Given the description of an element on the screen output the (x, y) to click on. 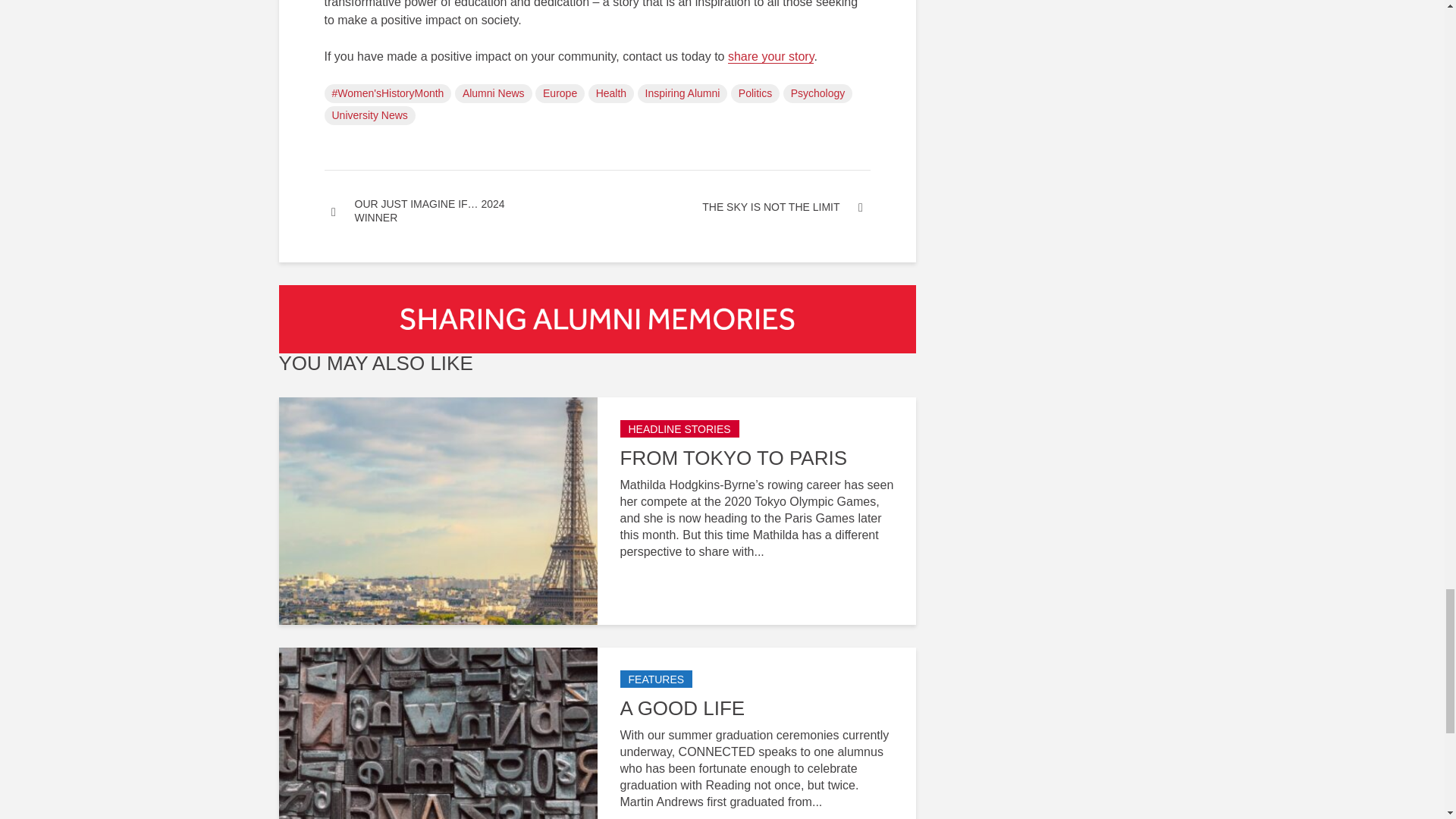
Politics (754, 93)
Psychology (818, 93)
A Good Life (437, 759)
A GOOD LIFE (756, 708)
Inspiring Alumni (682, 93)
THE SKY IS NOT THE LIMIT (733, 206)
HEADLINE STORIES (679, 428)
From Tokyo To Paris (437, 509)
Alumni News (493, 93)
University News (369, 115)
Europe (560, 93)
Health (610, 93)
FEATURES (656, 678)
share your story (770, 56)
FROM TOKYO TO PARIS (756, 457)
